Given the description of an element on the screen output the (x, y) to click on. 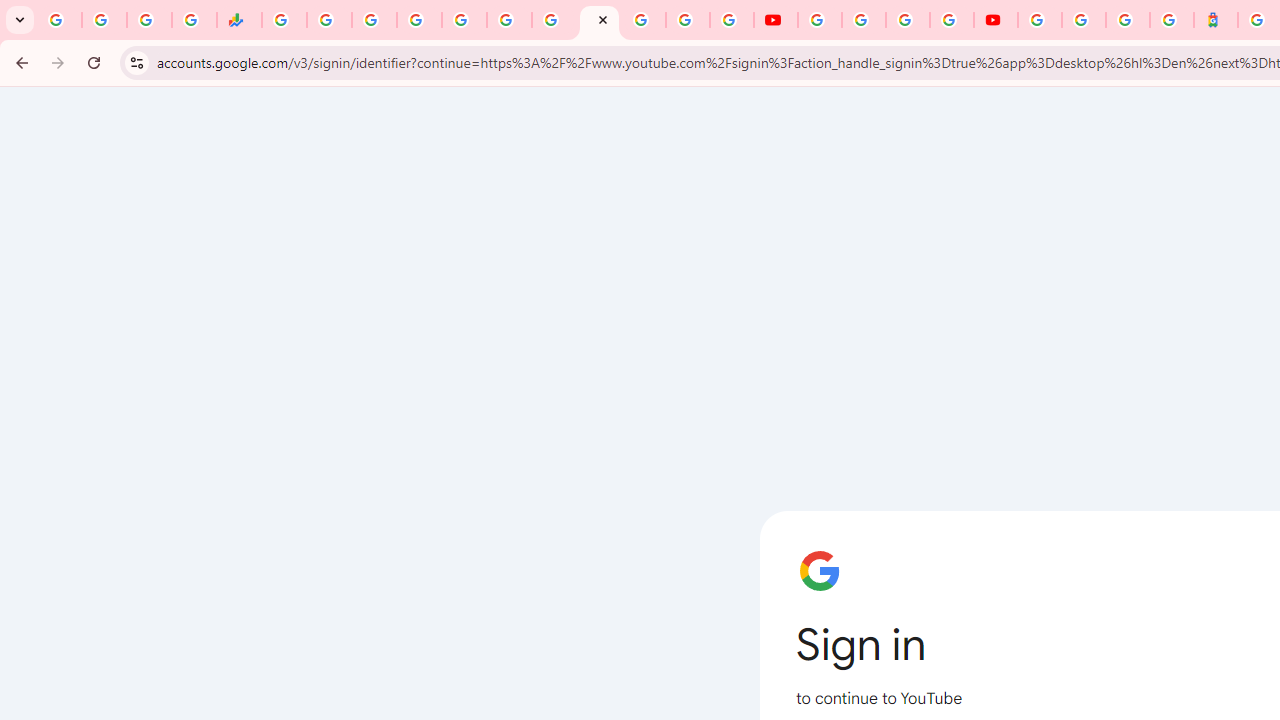
Atour Hotel - Google hotels (1215, 20)
